Given the description of an element on the screen output the (x, y) to click on. 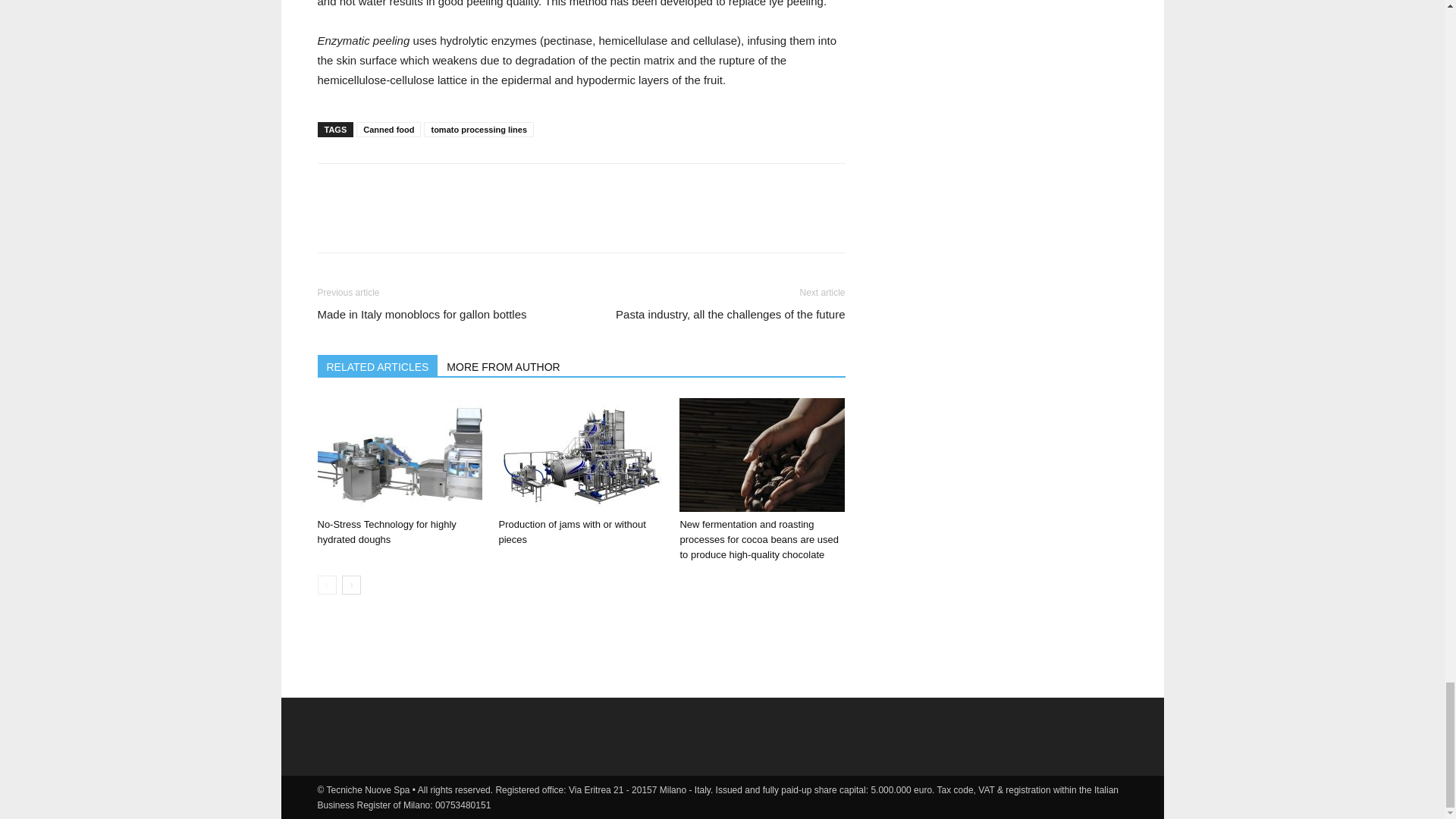
Made in Italy monoblocs for gallon bottles (421, 314)
Production of jams with or without pieces (571, 531)
Pasta industry, all the challenges of the future (729, 314)
Canned food (388, 129)
tomato processing lines (478, 129)
RELATED ARTICLES (377, 364)
No-Stress Technology for highly hydrated doughs (399, 454)
No-Stress Technology for highly hydrated doughs (386, 531)
